Given the description of an element on the screen output the (x, y) to click on. 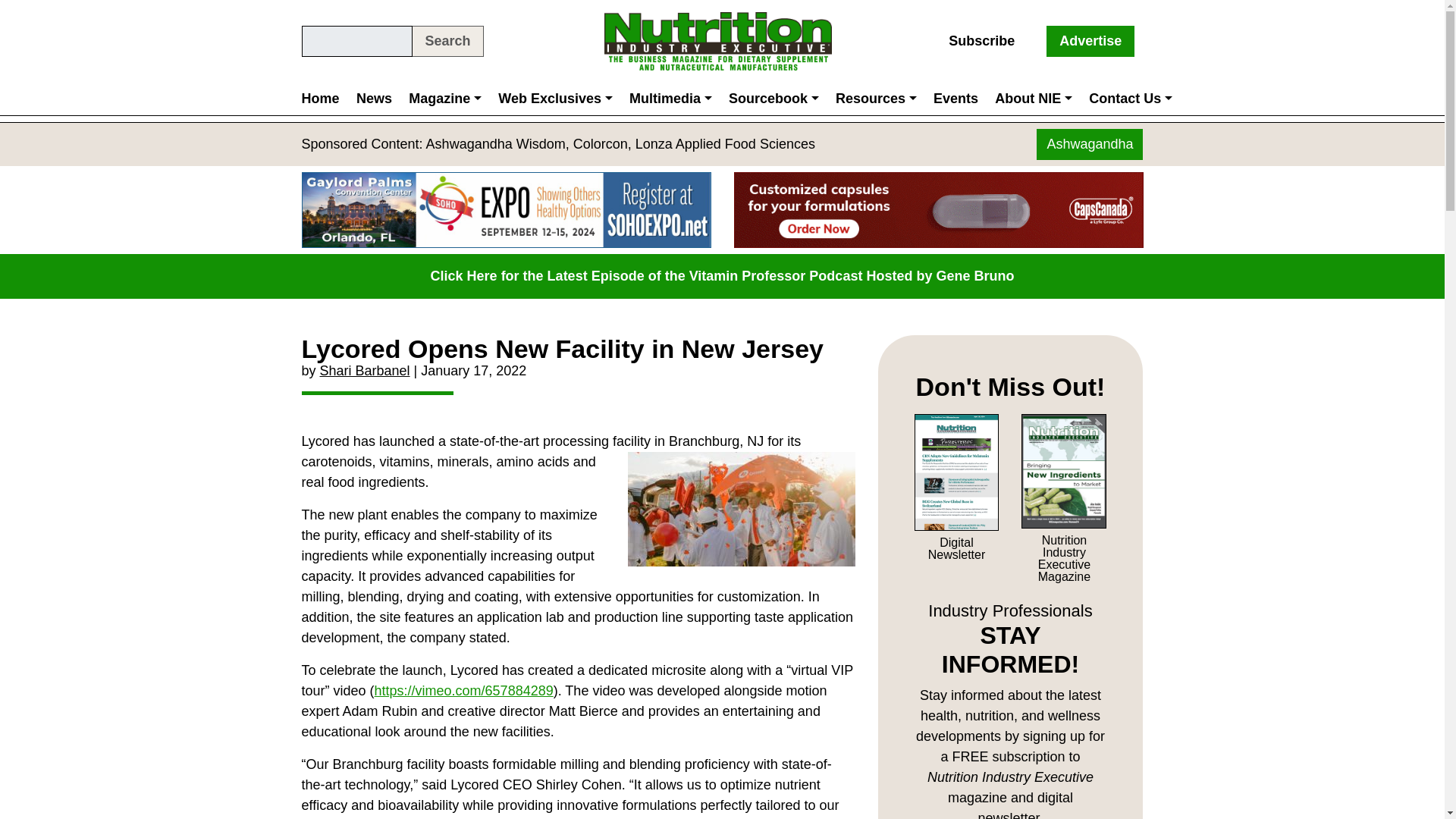
Resources (875, 98)
Resources (875, 98)
Home (324, 98)
Contact Us (1130, 98)
Sourcebook (773, 98)
Advertise (1090, 40)
News (373, 98)
Subscribe (982, 40)
Magazine (444, 98)
Multimedia (670, 98)
